Given the description of an element on the screen output the (x, y) to click on. 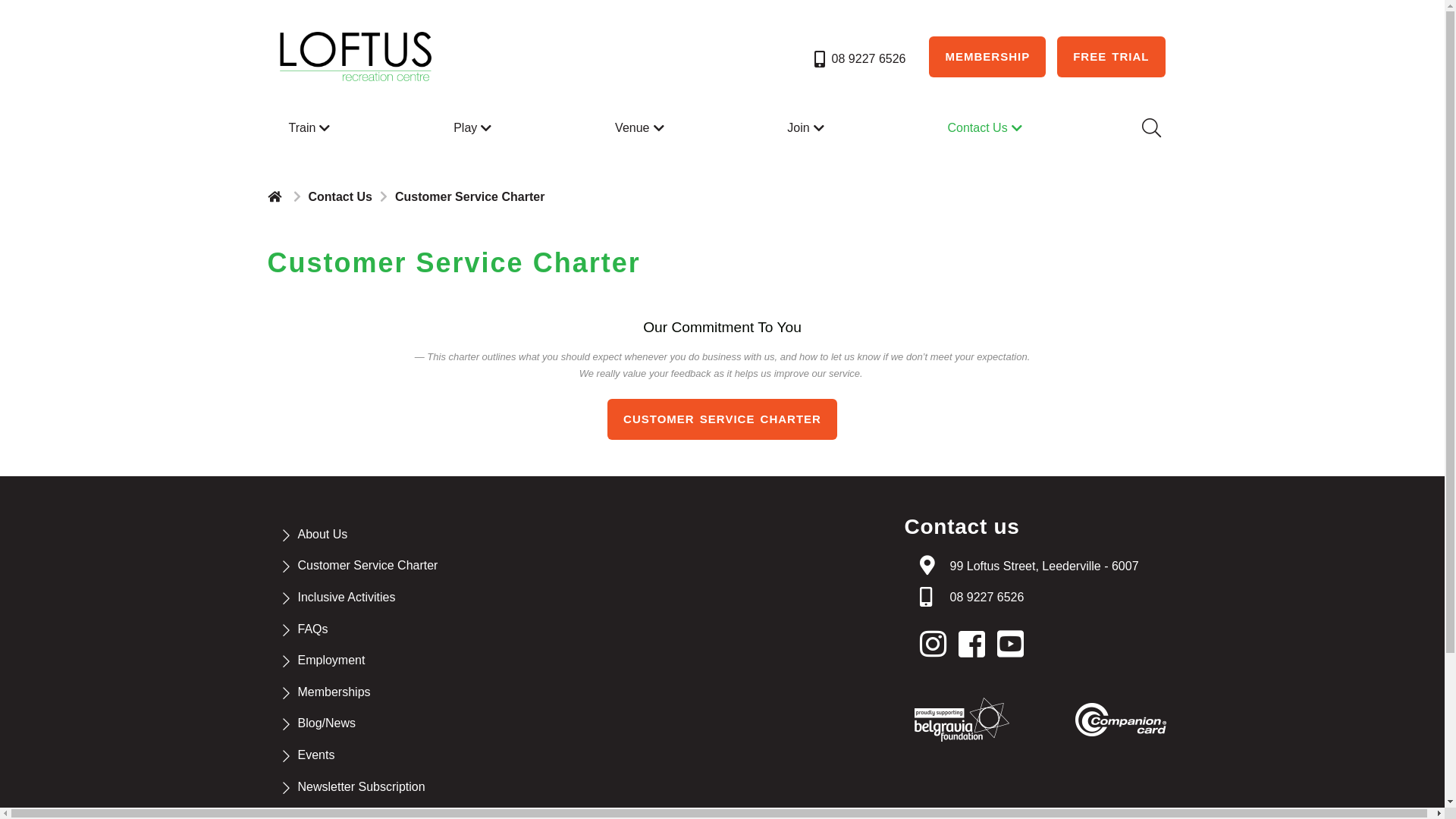
08 9227 6526 Element type: text (858, 59)
Customer Service Charter Element type: text (367, 564)
Events Element type: text (315, 754)
Search Element type: text (1150, 128)
  Element type: text (275, 196)
Newsletter Subscription Element type: text (360, 786)
Train Element type: text (310, 127)
Memberships Element type: text (333, 691)
Play Element type: text (474, 127)
Join Element type: text (807, 127)
Inclusive Activities Element type: text (346, 596)
FREE TRIAL Element type: text (1110, 56)
  Element type: text (1014, 644)
CUSTOMER SERVICE CHARTER Element type: text (722, 418)
MEMBERSHIP Element type: text (986, 56)
Contact Us Element type: text (986, 127)
FAQs Element type: text (312, 628)
Employment Element type: text (330, 659)
About Us Element type: text (322, 533)
  Element type: text (936, 644)
Venue Element type: text (640, 127)
Blog/News Element type: text (325, 722)
  Element type: text (975, 644)
08 9227 6526 Element type: text (986, 596)
